Given the description of an element on the screen output the (x, y) to click on. 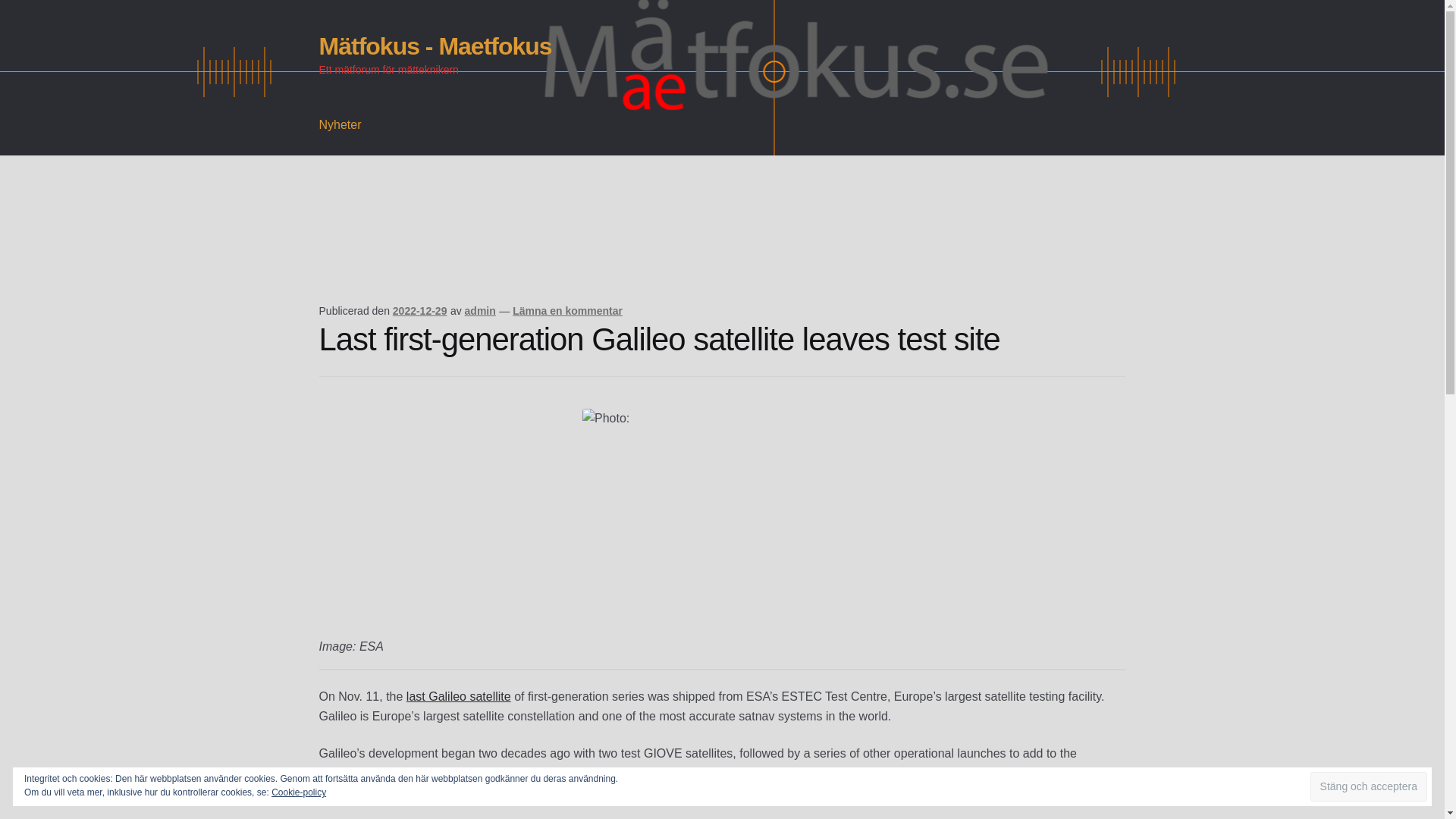
admin (480, 310)
Cookie-policy (298, 792)
Nyheter (340, 124)
Advertisement (594, 251)
last Galileo satellite (458, 696)
2022-12-29 (419, 310)
